Given the description of an element on the screen output the (x, y) to click on. 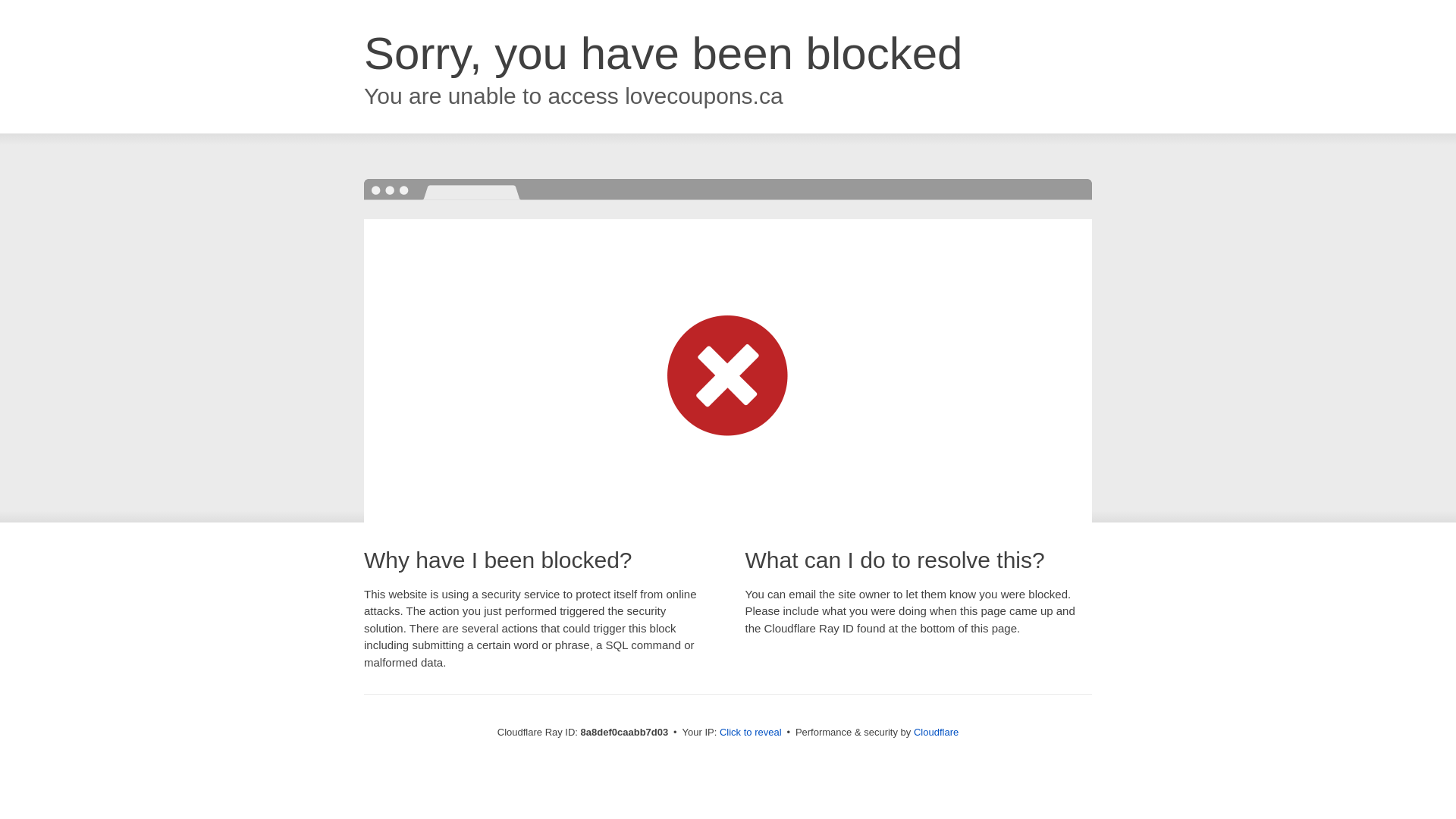
Cloudflare (936, 731)
Click to reveal (750, 732)
